Given the description of an element on the screen output the (x, y) to click on. 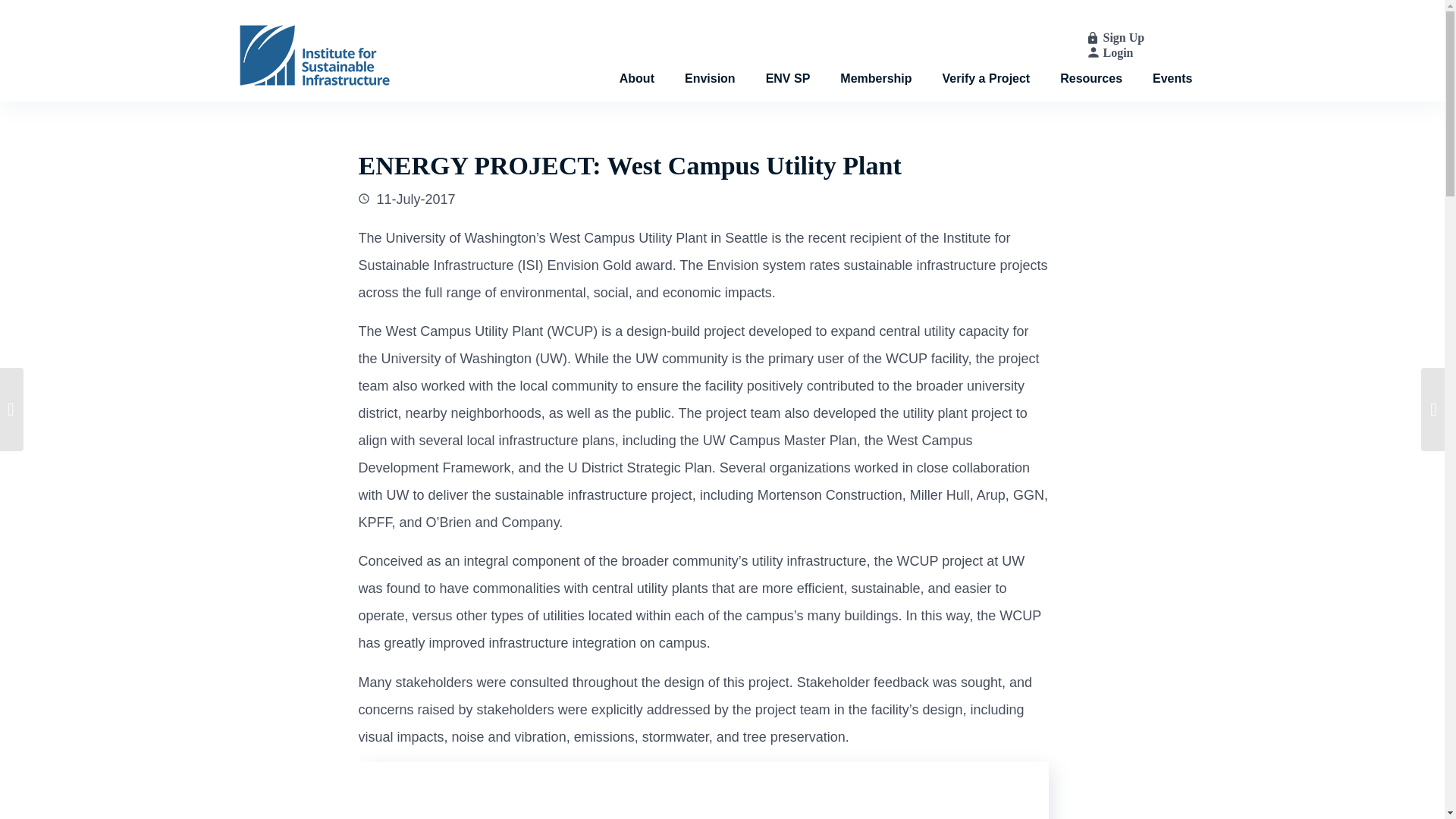
Permanent Link: ENERGY PROJECT: West Campus Utility Plant (629, 165)
Sign Up (1123, 37)
Verify a Project (986, 61)
ENV SP (788, 61)
Membership (875, 61)
Envision (710, 61)
Login (1117, 51)
